Given the description of an element on the screen output the (x, y) to click on. 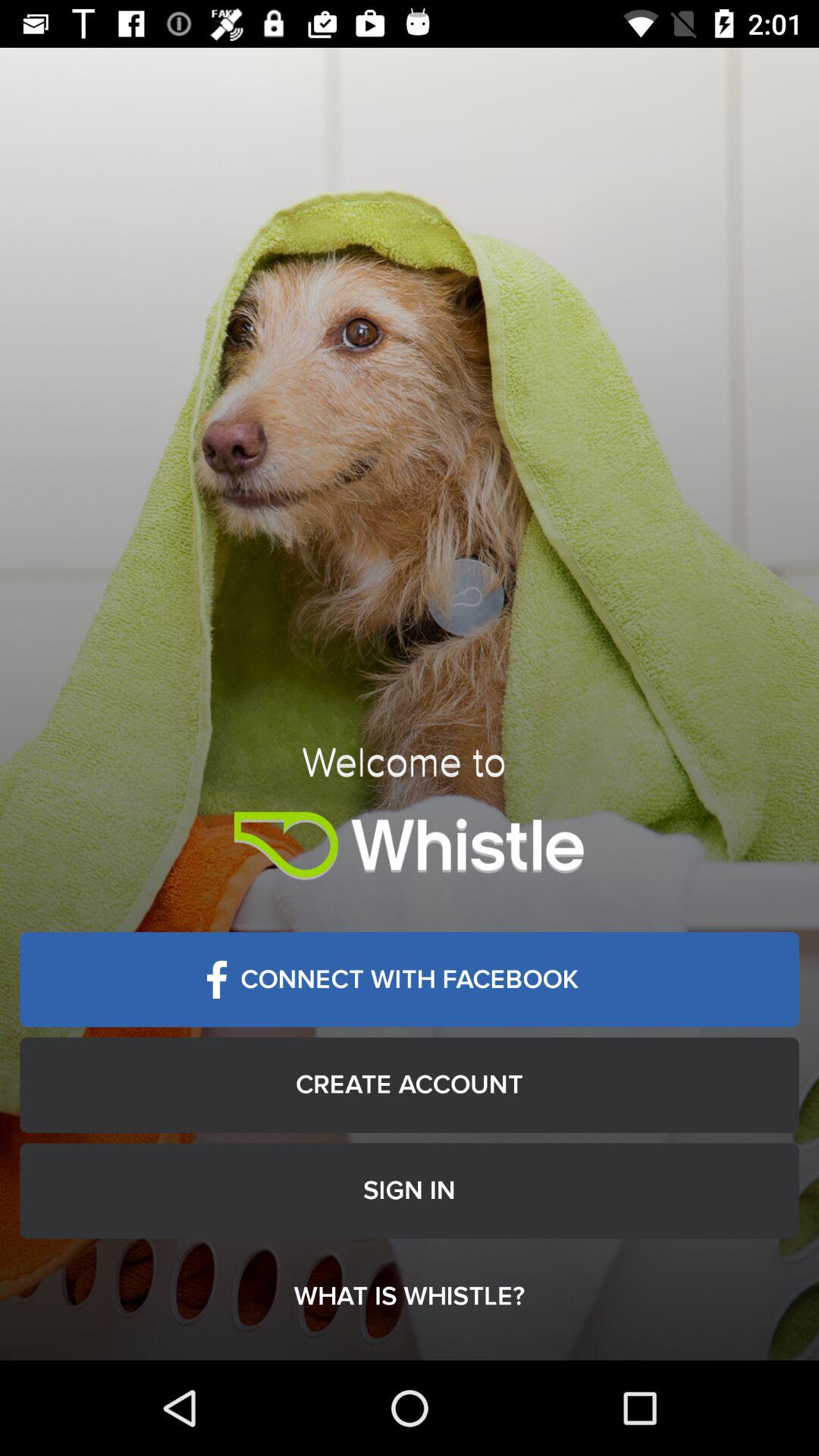
choose the item below the sign in icon (409, 1296)
